Given the description of an element on the screen output the (x, y) to click on. 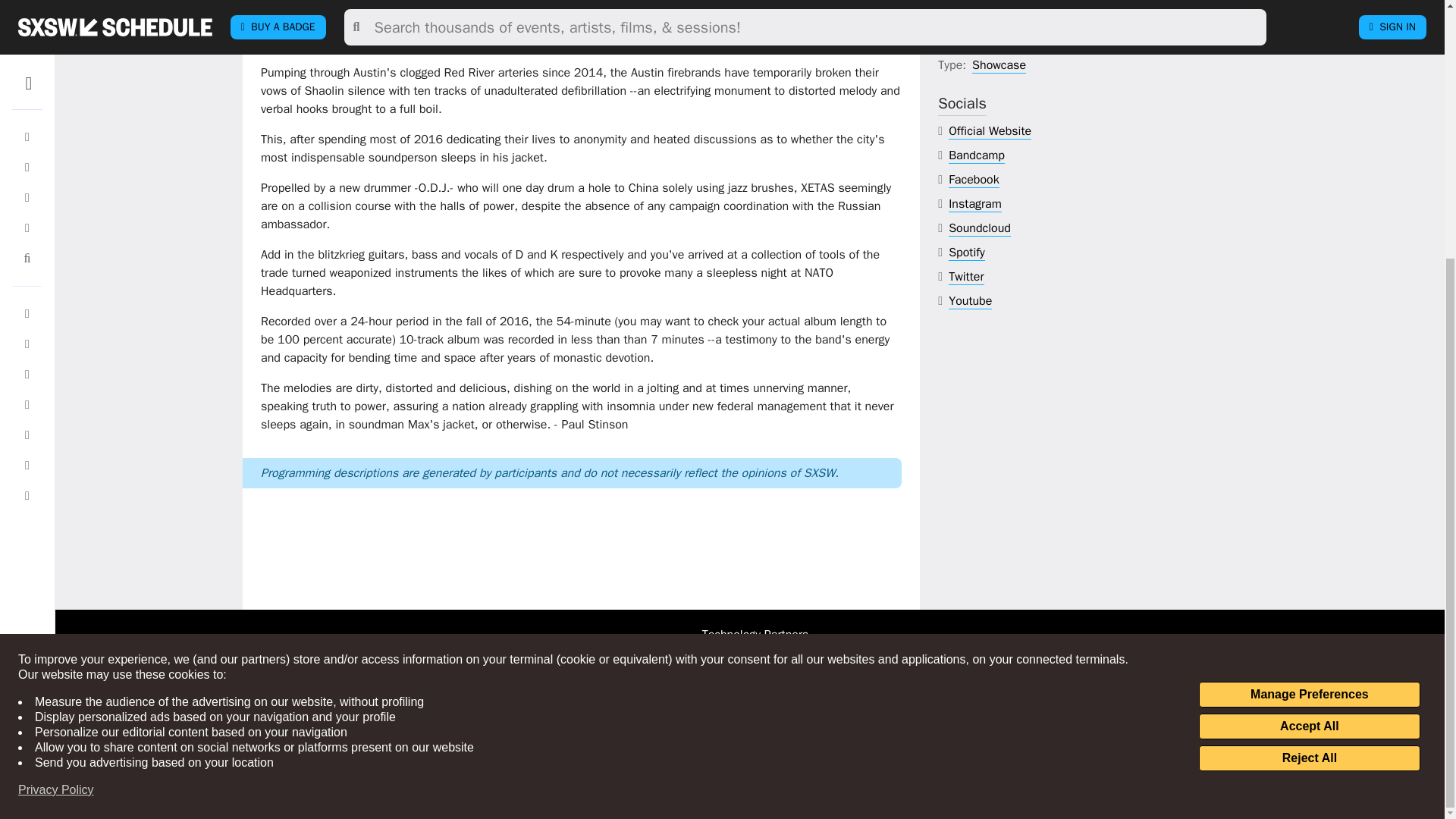
Privacy Policy (55, 420)
youtube (970, 301)
website (989, 131)
Manage Preferences (1309, 325)
bandcamp (976, 155)
soundcloud (979, 228)
twitter (966, 277)
instagram (975, 204)
spotify (967, 252)
facebook (973, 179)
Accept All (1309, 356)
Reject All (1309, 388)
